Given the description of an element on the screen output the (x, y) to click on. 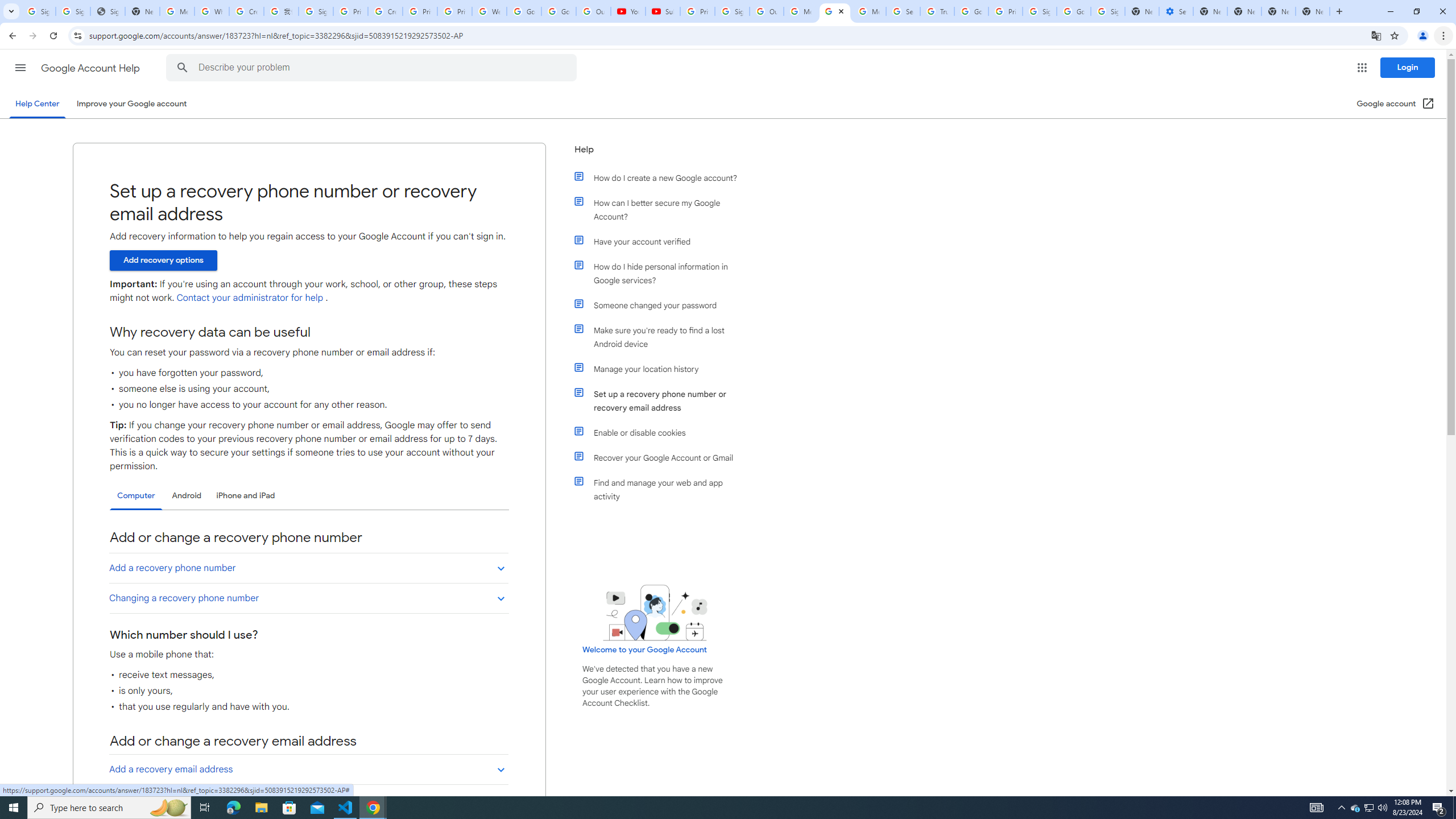
Create your Google Account (246, 11)
Add a recovery email address (308, 769)
iPhone and iPad (245, 495)
Google Cybersecurity Innovations - Google Safety Center (1073, 11)
Address and search bar (726, 35)
